Given the description of an element on the screen output the (x, y) to click on. 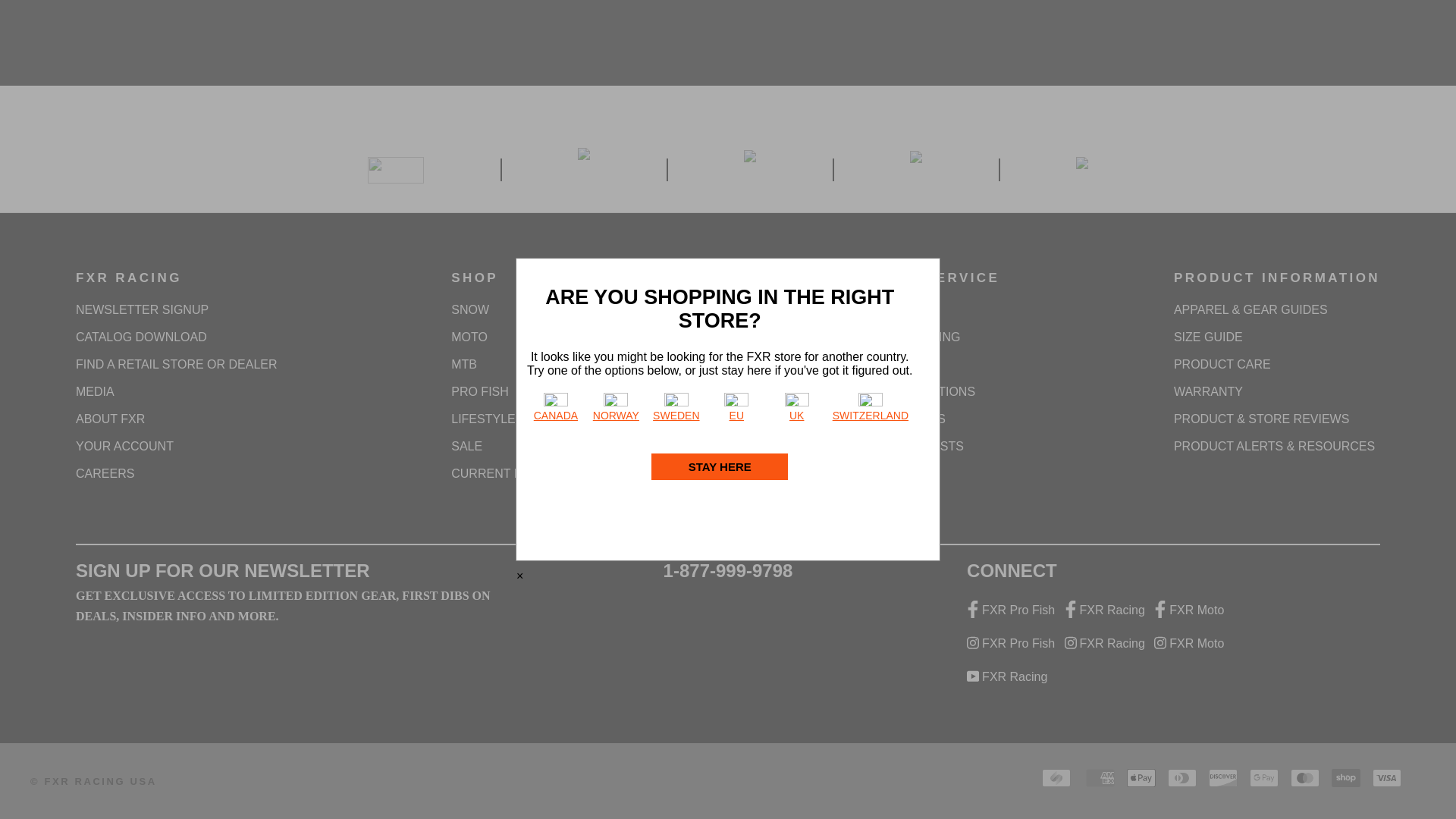
Shop Pay (1345, 778)
Mastercard (1304, 778)
Google Pay (1263, 778)
Discover (1222, 778)
Sezzle (1056, 778)
Apple Pay (1141, 778)
Visa (1386, 778)
American Express (1100, 778)
Diners Club (1181, 778)
